Given the description of an element on the screen output the (x, y) to click on. 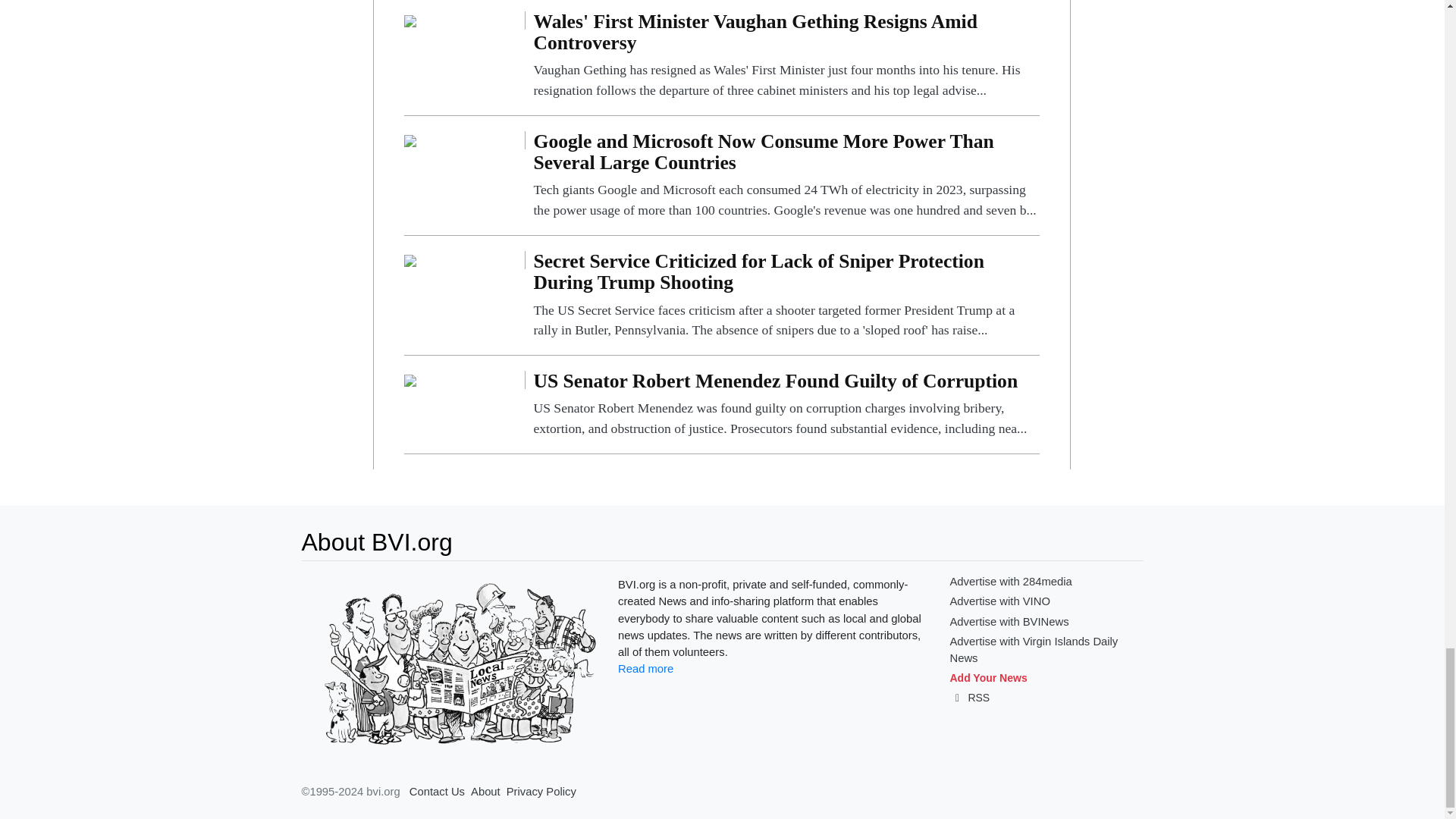
Read more (644, 668)
Advertise with 284media (1010, 581)
